Given the description of an element on the screen output the (x, y) to click on. 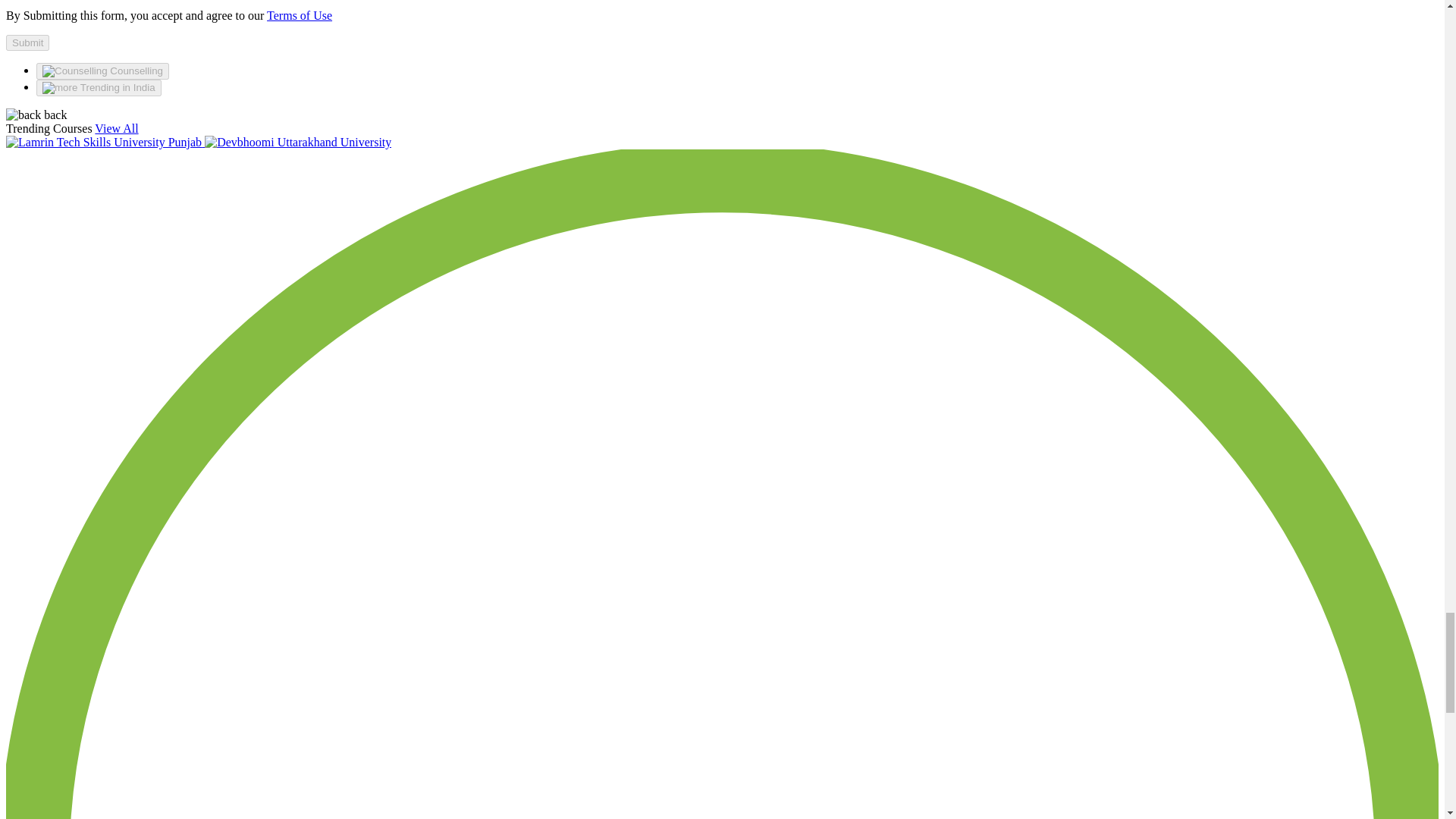
Submit (27, 42)
